Given the description of an element on the screen output the (x, y) to click on. 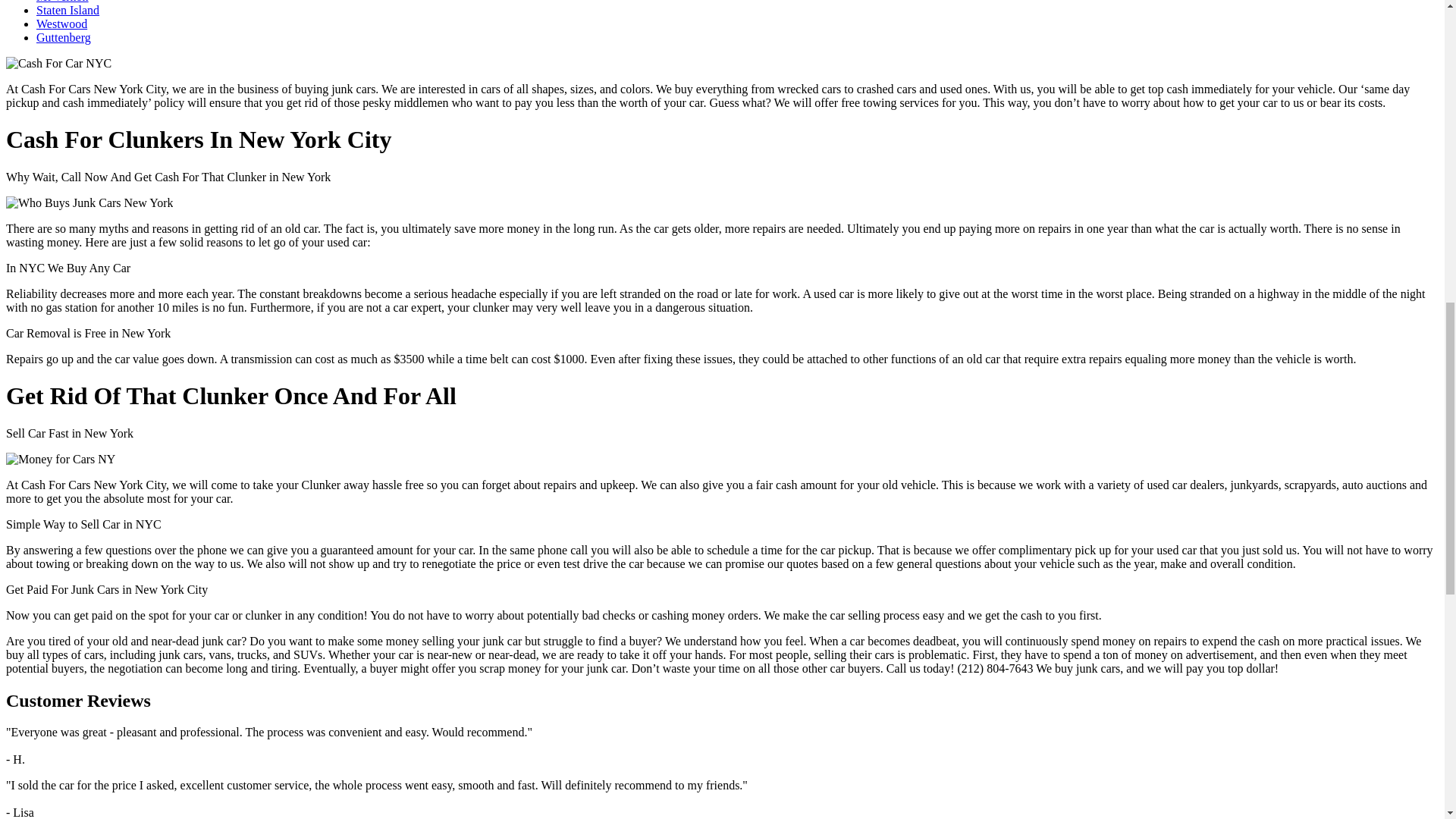
Mt Vernon (62, 1)
Staten Island (67, 10)
Guttenberg (63, 37)
Westwood (61, 23)
